Given the description of an element on the screen output the (x, y) to click on. 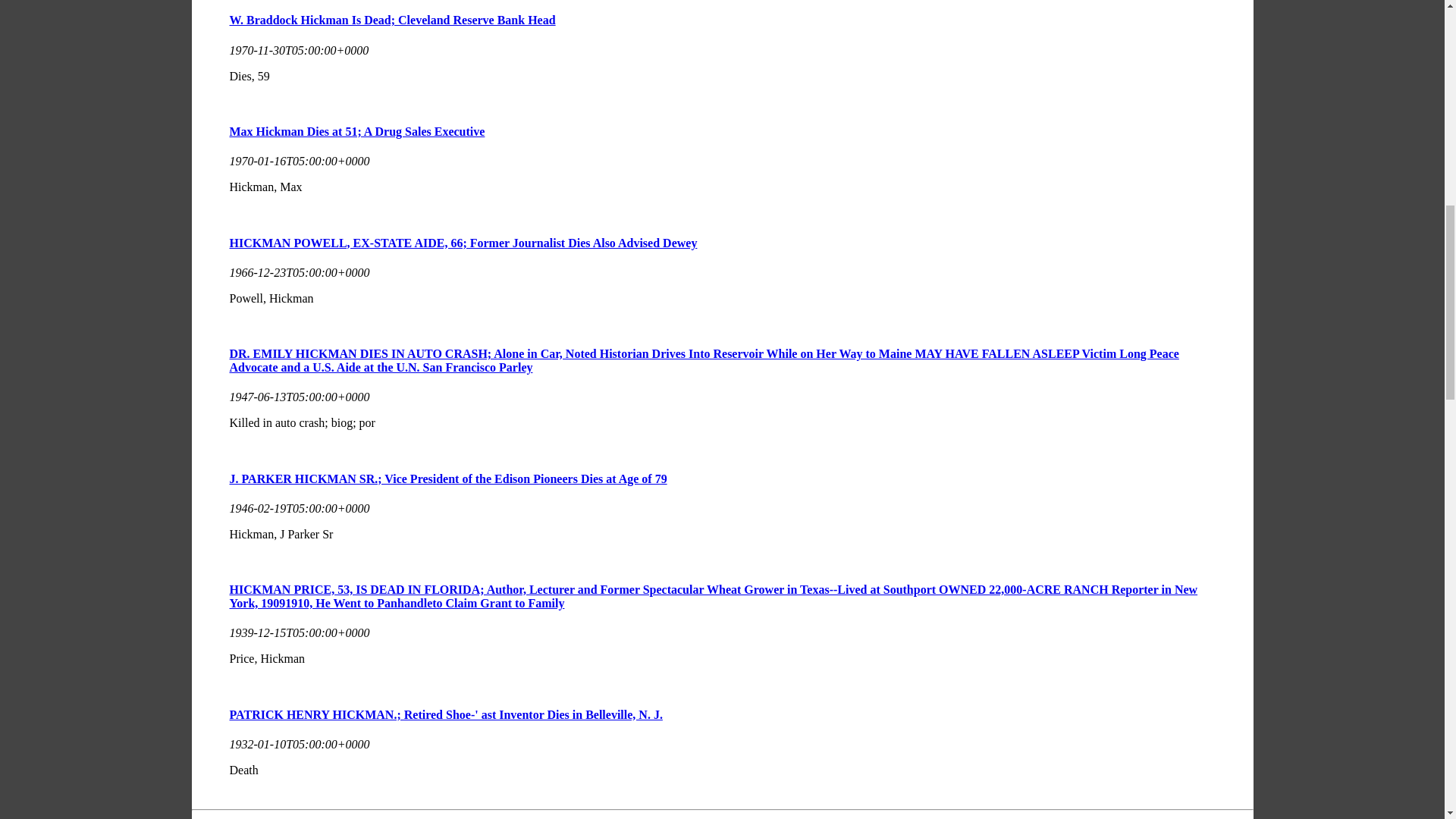
W. Braddock Hickman Is Dead; Cleveland Reserve Bank Head (391, 19)
Max Hickman Dies at 51; A Drug Sales Executive (356, 131)
